Given the description of an element on the screen output the (x, y) to click on. 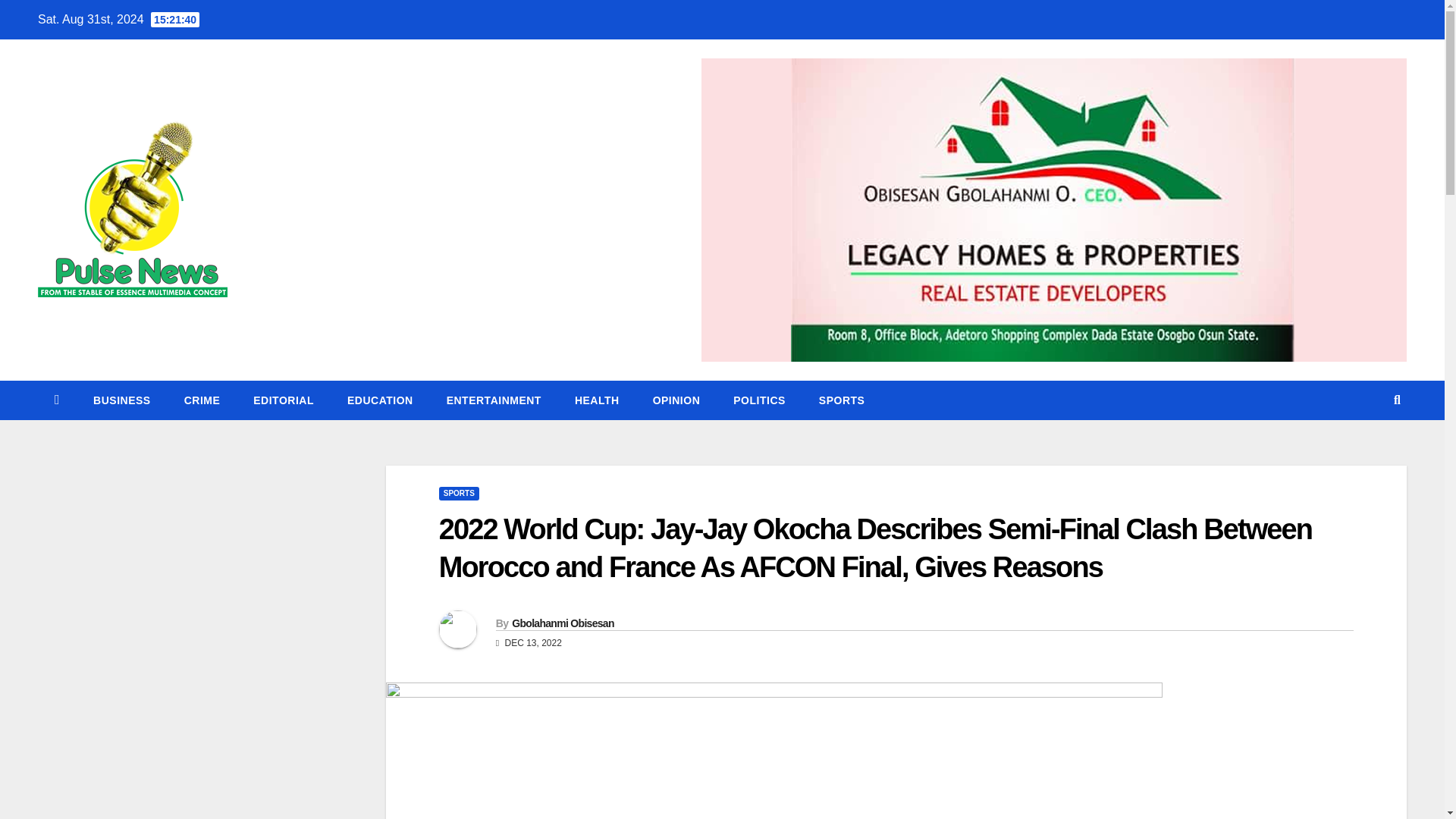
EDUCATION (379, 400)
Health (596, 400)
Crime (202, 400)
Business (122, 400)
HEALTH (596, 400)
SPORTS (842, 400)
ENTERTAINMENT (493, 400)
Entertainment (493, 400)
Politics (759, 400)
